Given the description of an element on the screen output the (x, y) to click on. 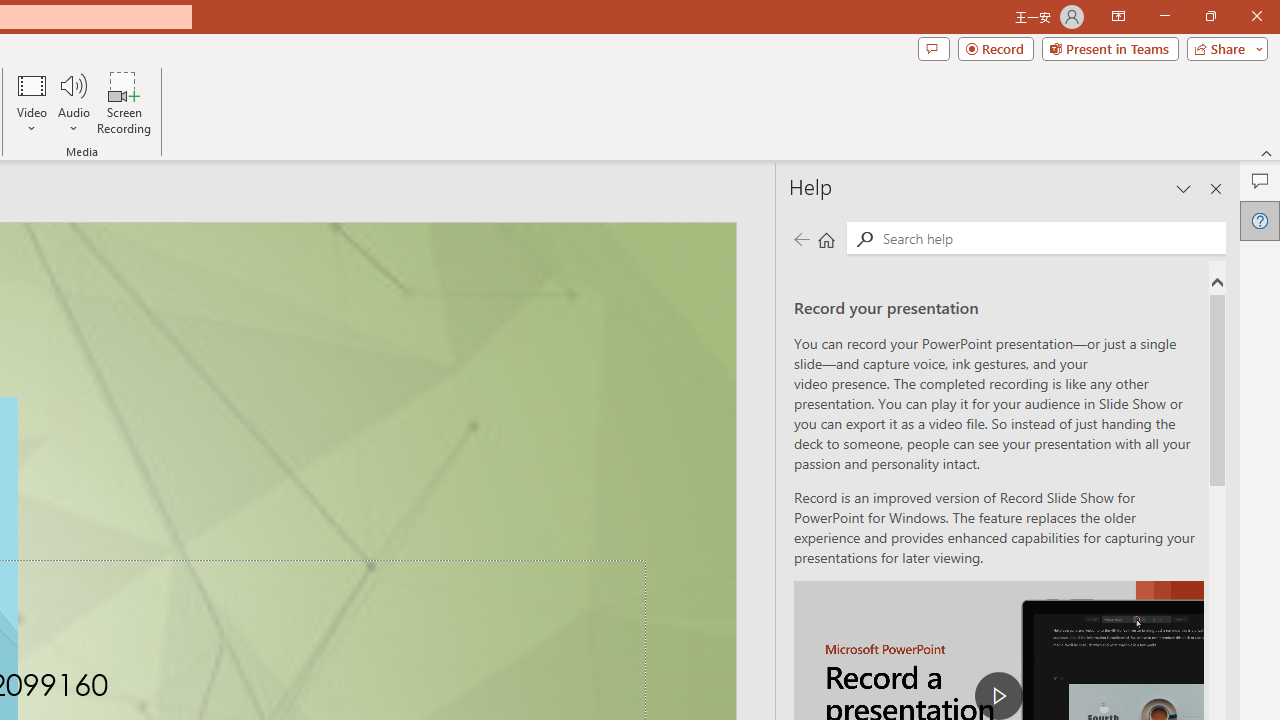
Screen Recording... (123, 102)
play Record a Presentation (998, 695)
Previous page (801, 238)
